Given the description of an element on the screen output the (x, y) to click on. 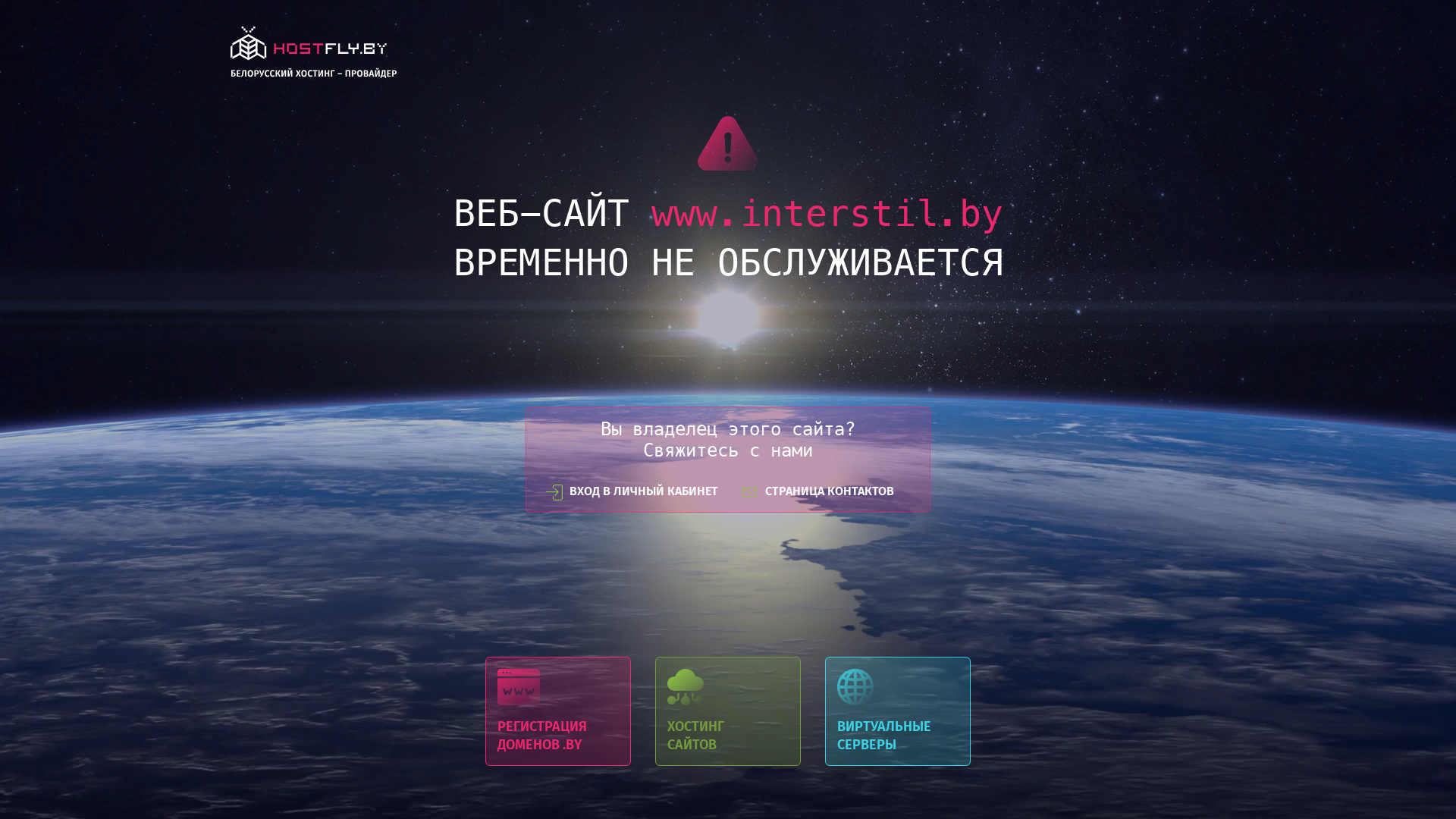
LINK Element type: text (313, 56)
